Given the description of an element on the screen output the (x, y) to click on. 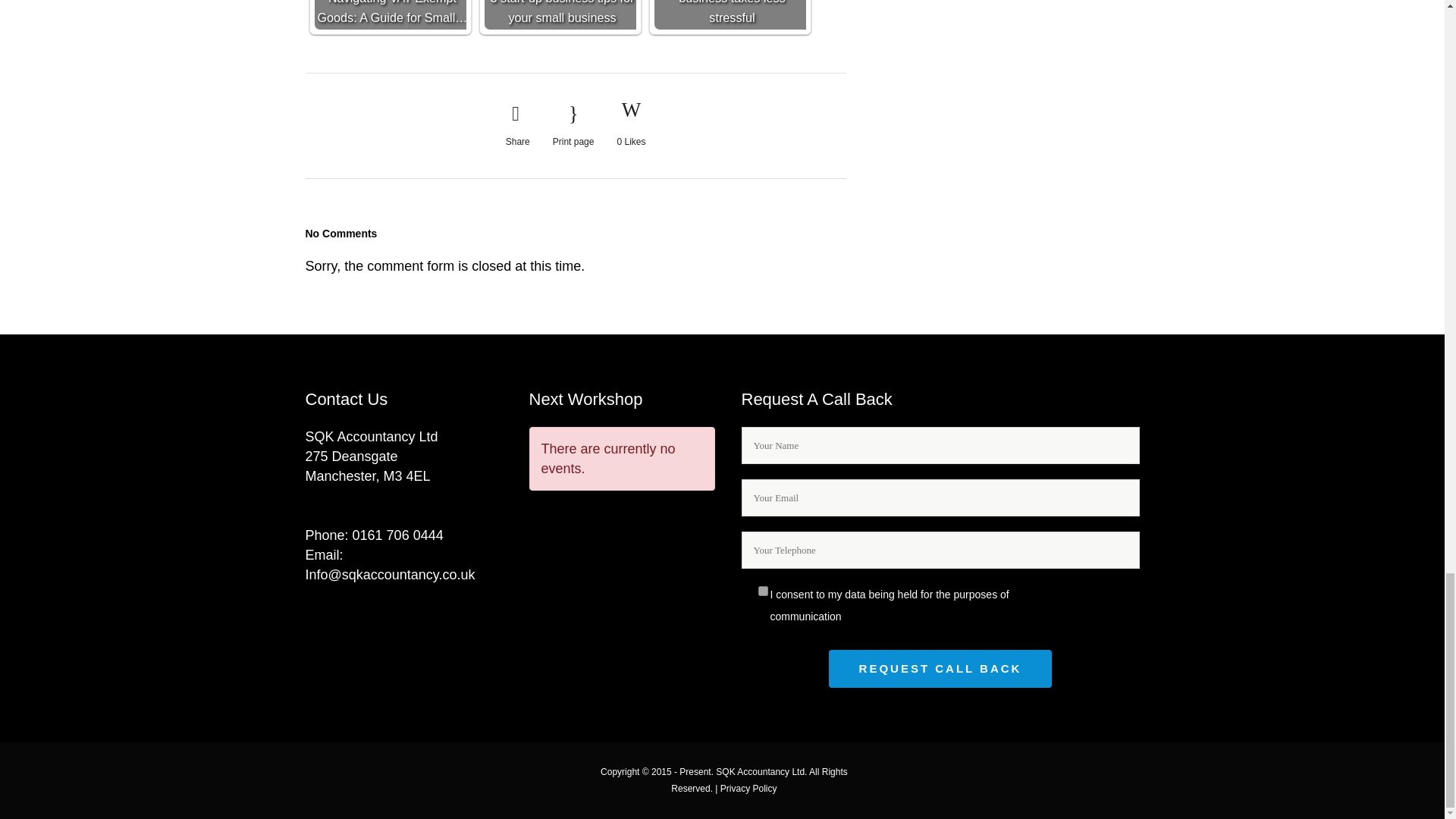
Request Call Back (940, 668)
4 tips to make small business taxes less stressful (729, 14)
1 (763, 591)
3 start-up business tips for your small business (558, 14)
